Given the description of an element on the screen output the (x, y) to click on. 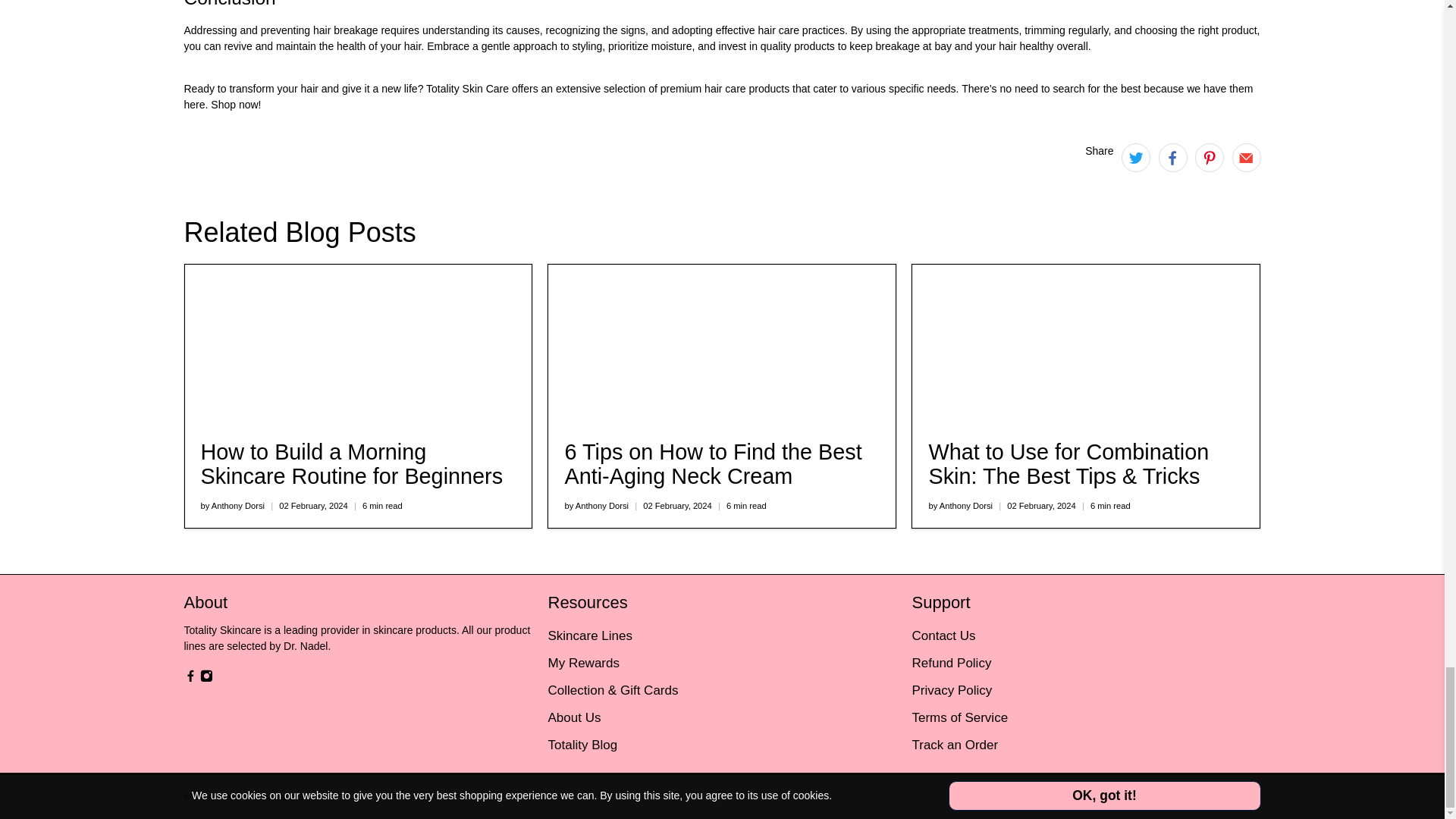
How to Build a Morning Skincare Routine for Beginners (351, 463)
Totality Medispa and Skincare on Facebook (189, 678)
Share this on Facebook (1173, 157)
Totality Medispa and Skincare on Instagram (206, 678)
Share this on Twitter (1135, 157)
Email this to a friend (1245, 157)
6 Tips on How to Find the Best Anti-Aging Neck Cream (721, 344)
Share this on Pinterest (1209, 157)
How to Build a Morning Skincare Routine for Beginners (358, 344)
6 Tips on How to Find the Best Anti-Aging Neck Cream (712, 463)
